Given the description of an element on the screen output the (x, y) to click on. 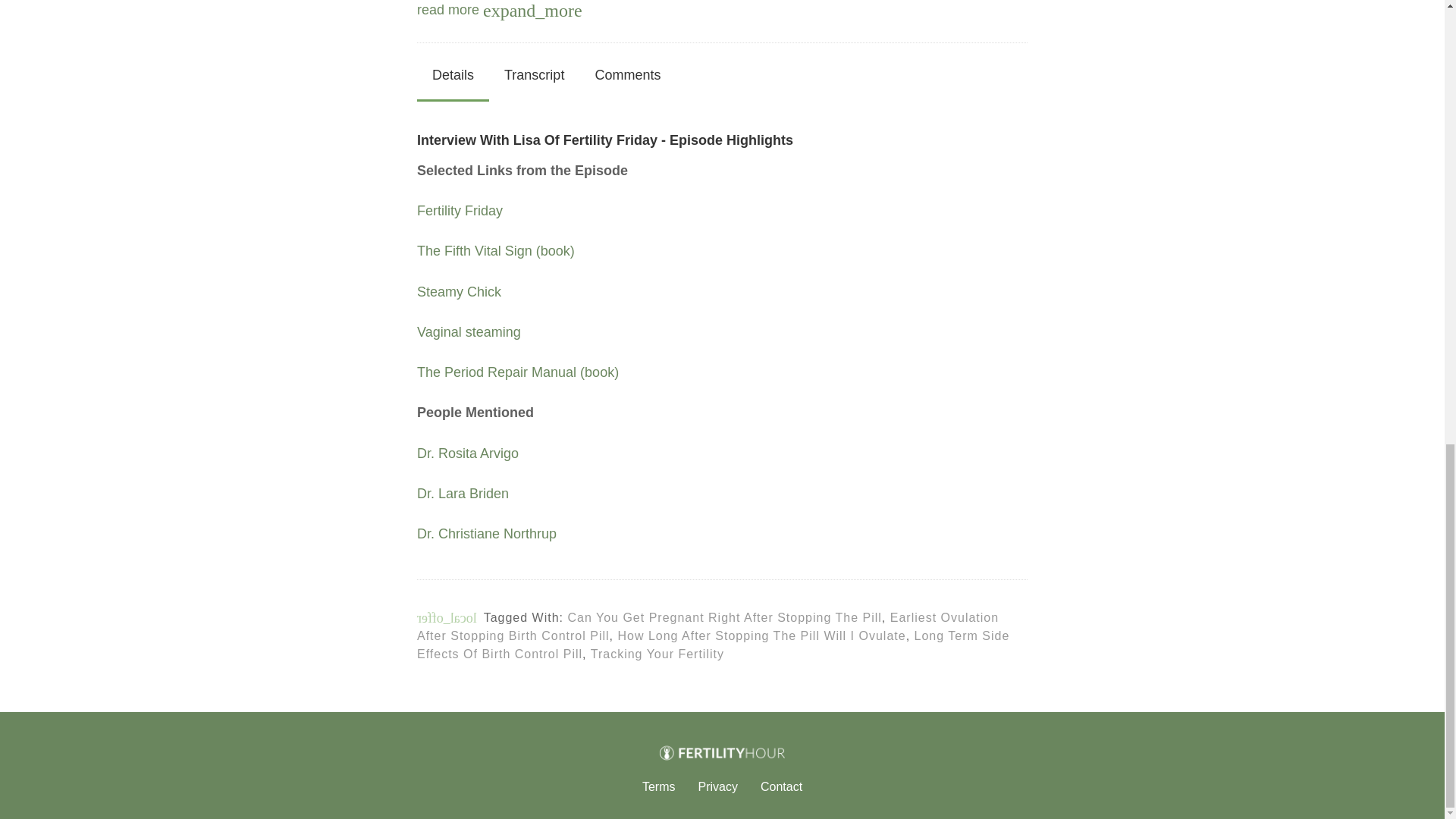
Details (452, 75)
Transcript (534, 75)
Comments (627, 75)
